Given the description of an element on the screen output the (x, y) to click on. 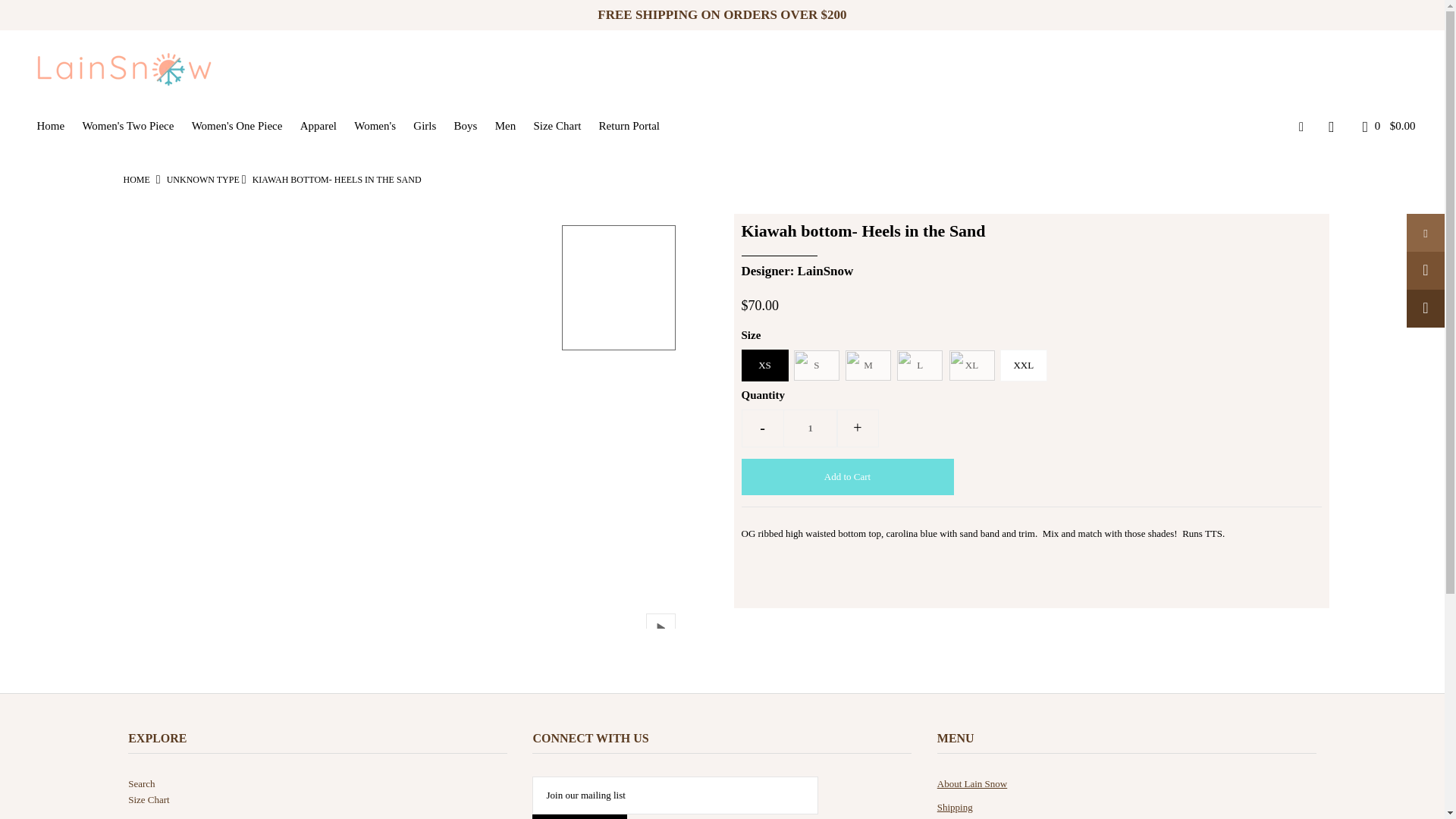
1 (810, 428)
Women's Two Piece (127, 125)
Women's One Piece (236, 125)
Join (579, 816)
Men (505, 125)
Apparel (317, 125)
HOME (135, 179)
Add to Cart (847, 476)
- (762, 428)
Home (50, 125)
